Given the description of an element on the screen output the (x, y) to click on. 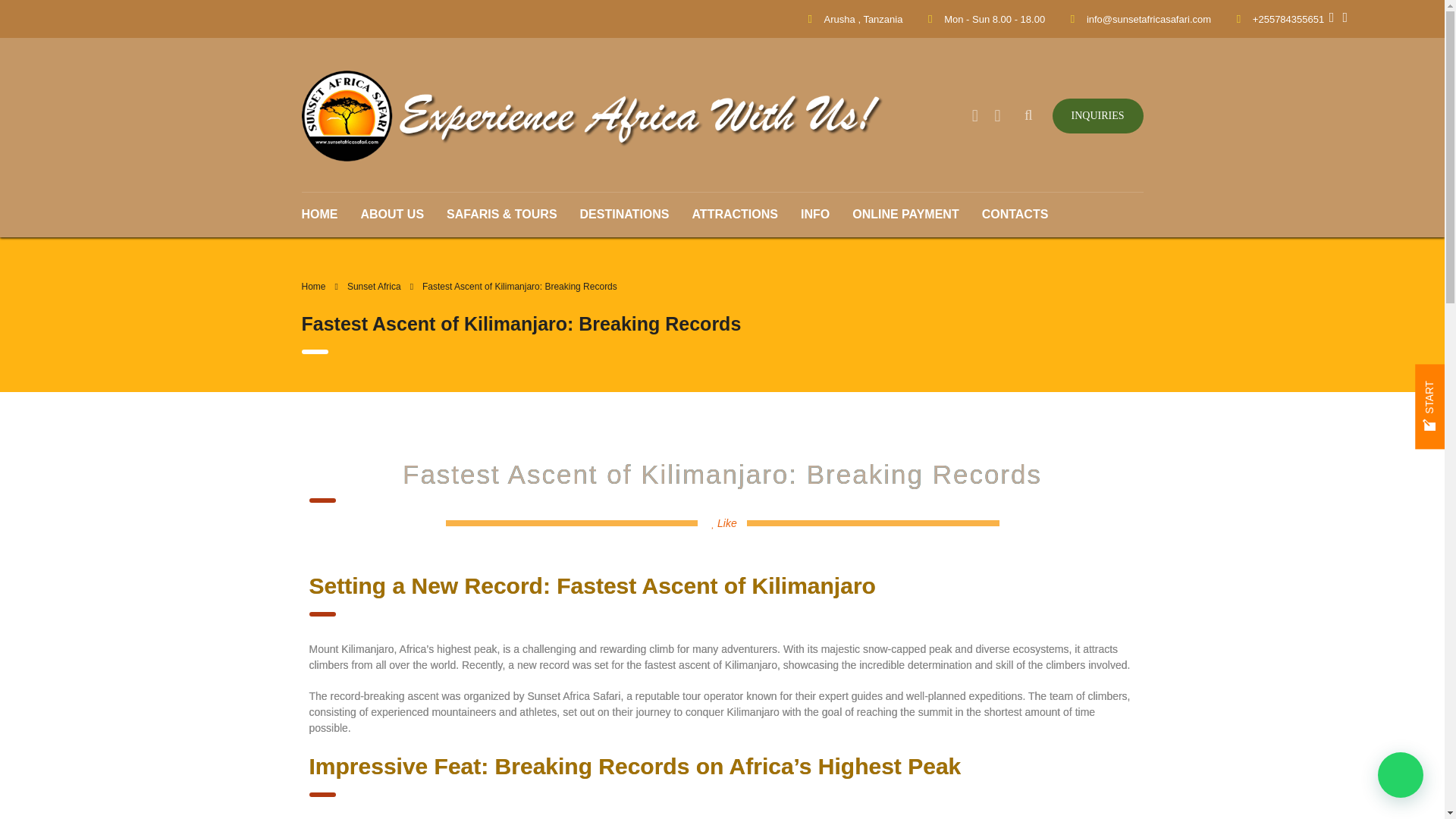
Go to Sunset Africa Safari. (313, 286)
Go to the Sunset Africa category archives. (374, 286)
Like (725, 522)
ABOUT US (392, 214)
INQUIRIES (1097, 115)
DESTINATIONS (625, 214)
HOME (325, 214)
ATTRACTIONS (735, 214)
